Given the description of an element on the screen output the (x, y) to click on. 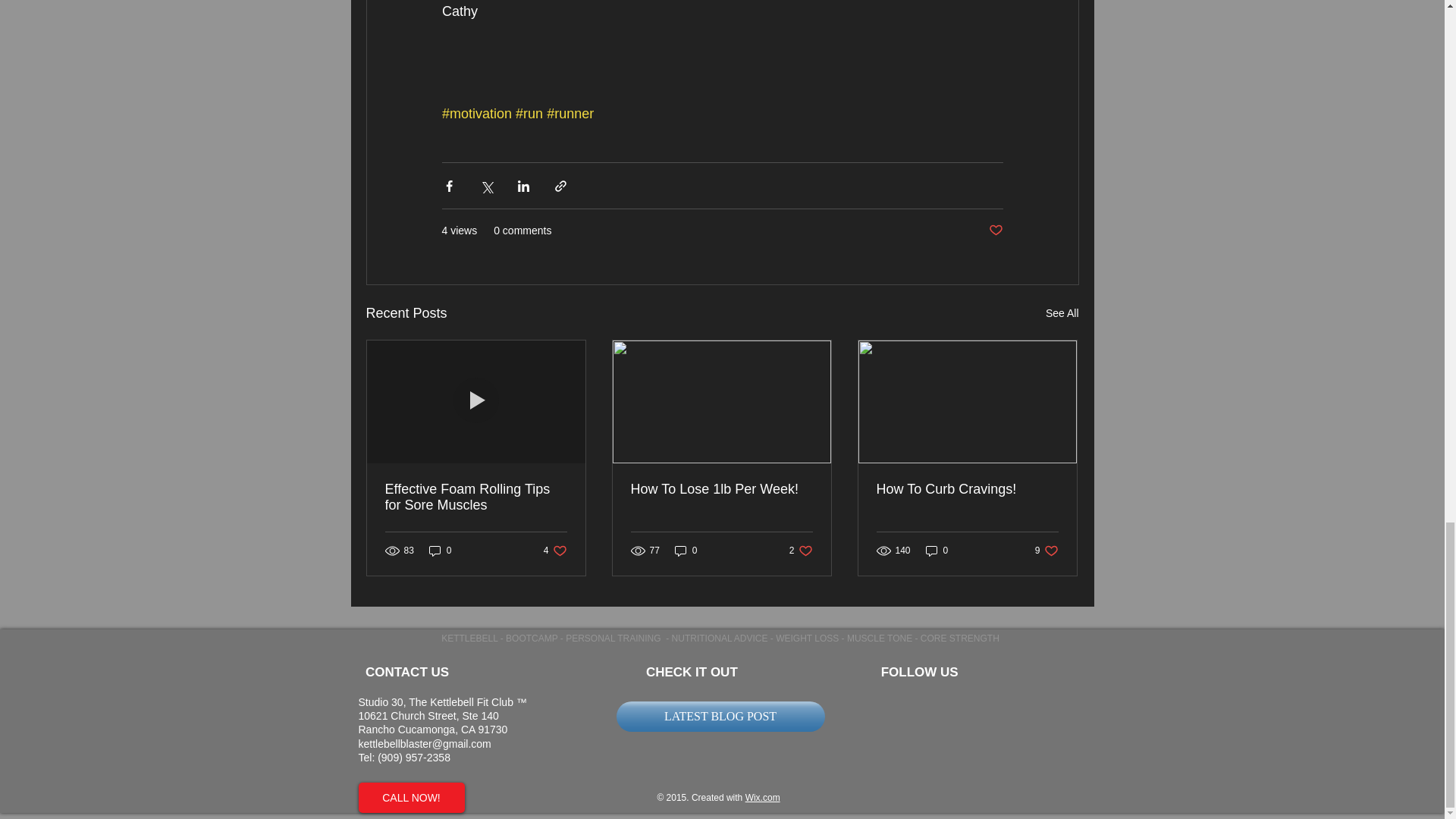
Post not marked as liked (995, 230)
Effective Foam Rolling Tips for Sore Muscles (476, 497)
See All (1061, 313)
